Given the description of an element on the screen output the (x, y) to click on. 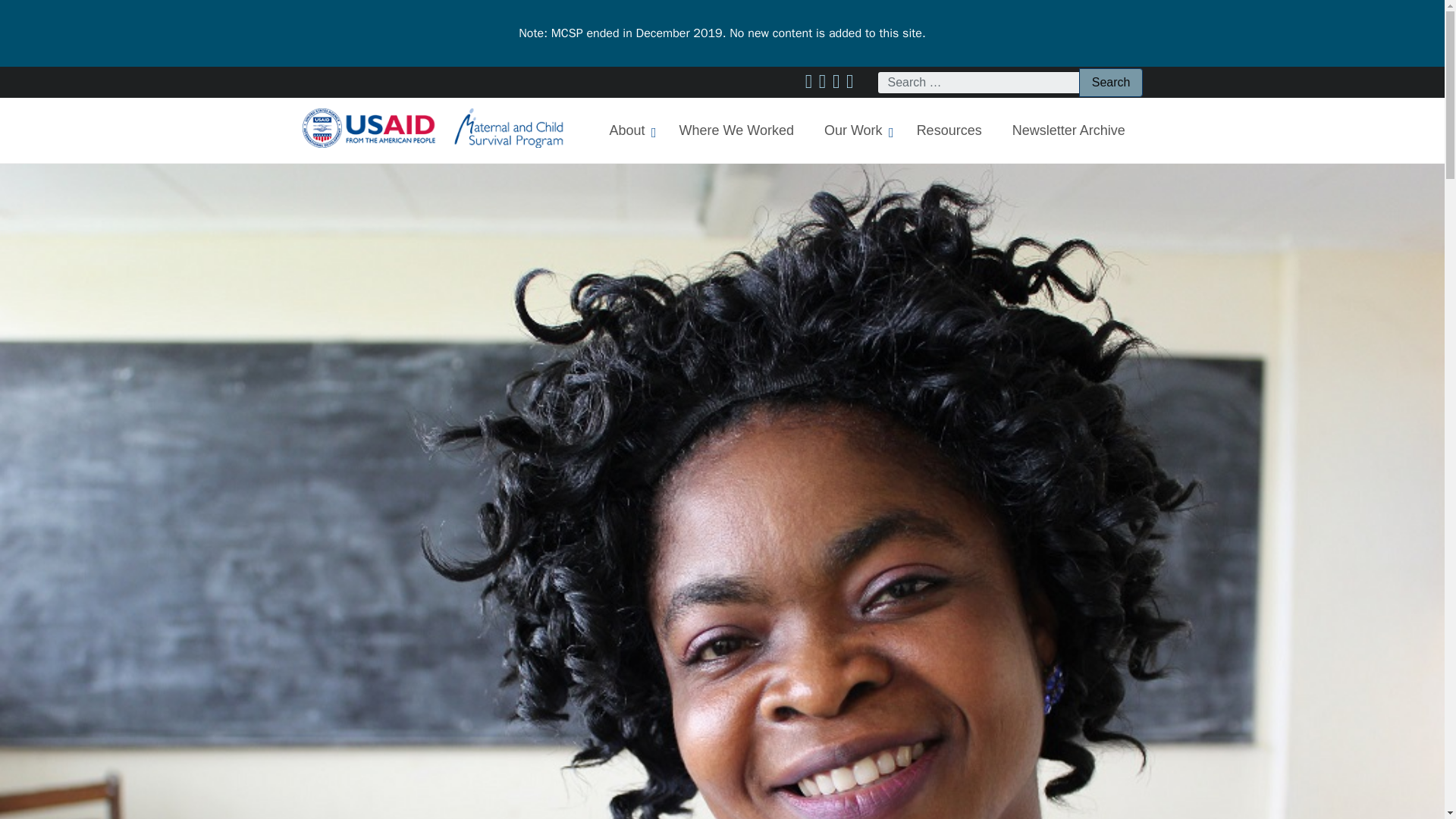
Our Work (855, 129)
Search (1110, 82)
Where We Worked (867, 129)
About (736, 129)
Search (628, 129)
